Given the description of an element on the screen output the (x, y) to click on. 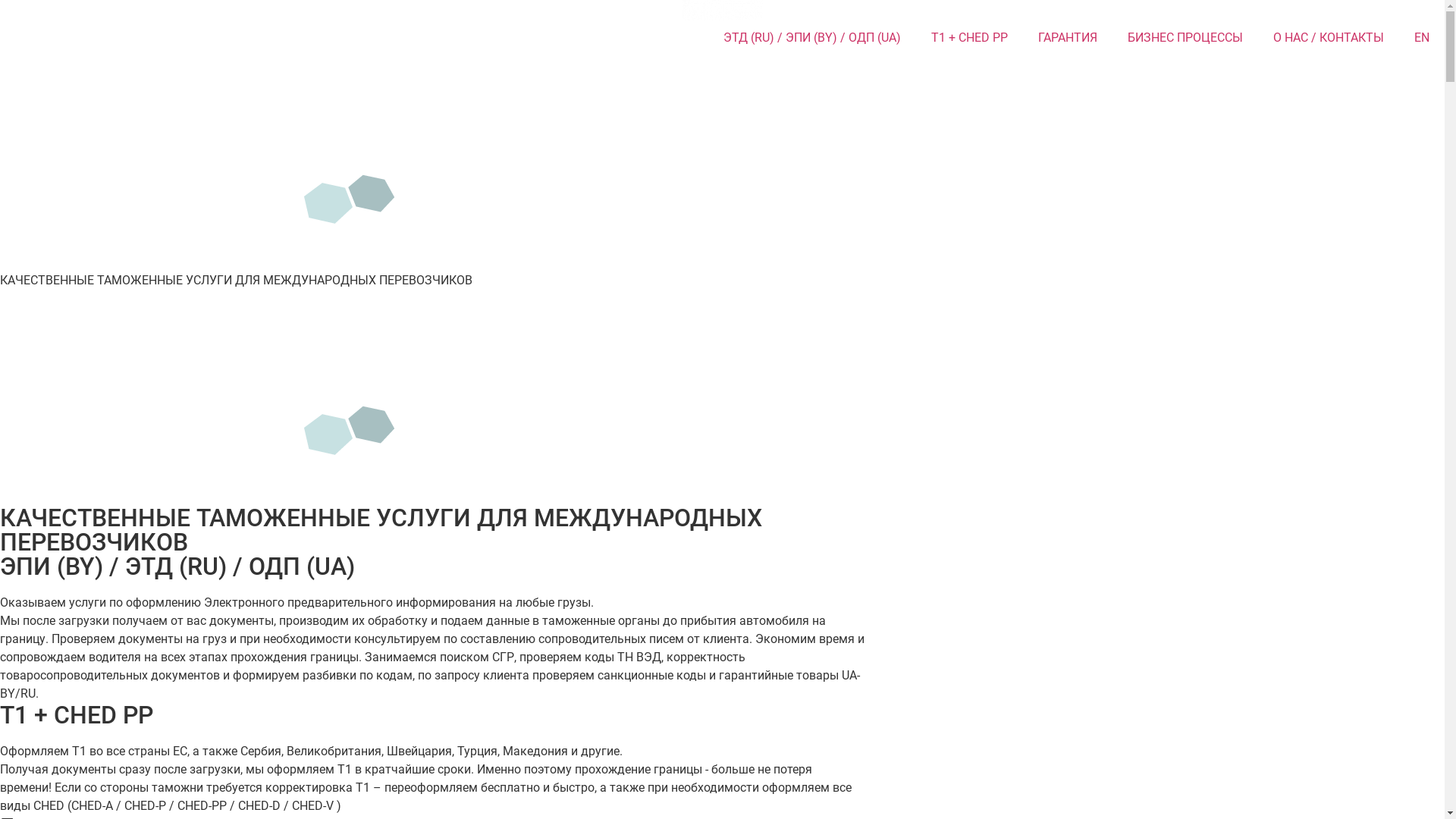
EN Element type: text (1421, 37)
cropped-71.png Element type: hover (722, 10)
